Given the description of an element on the screen output the (x, y) to click on. 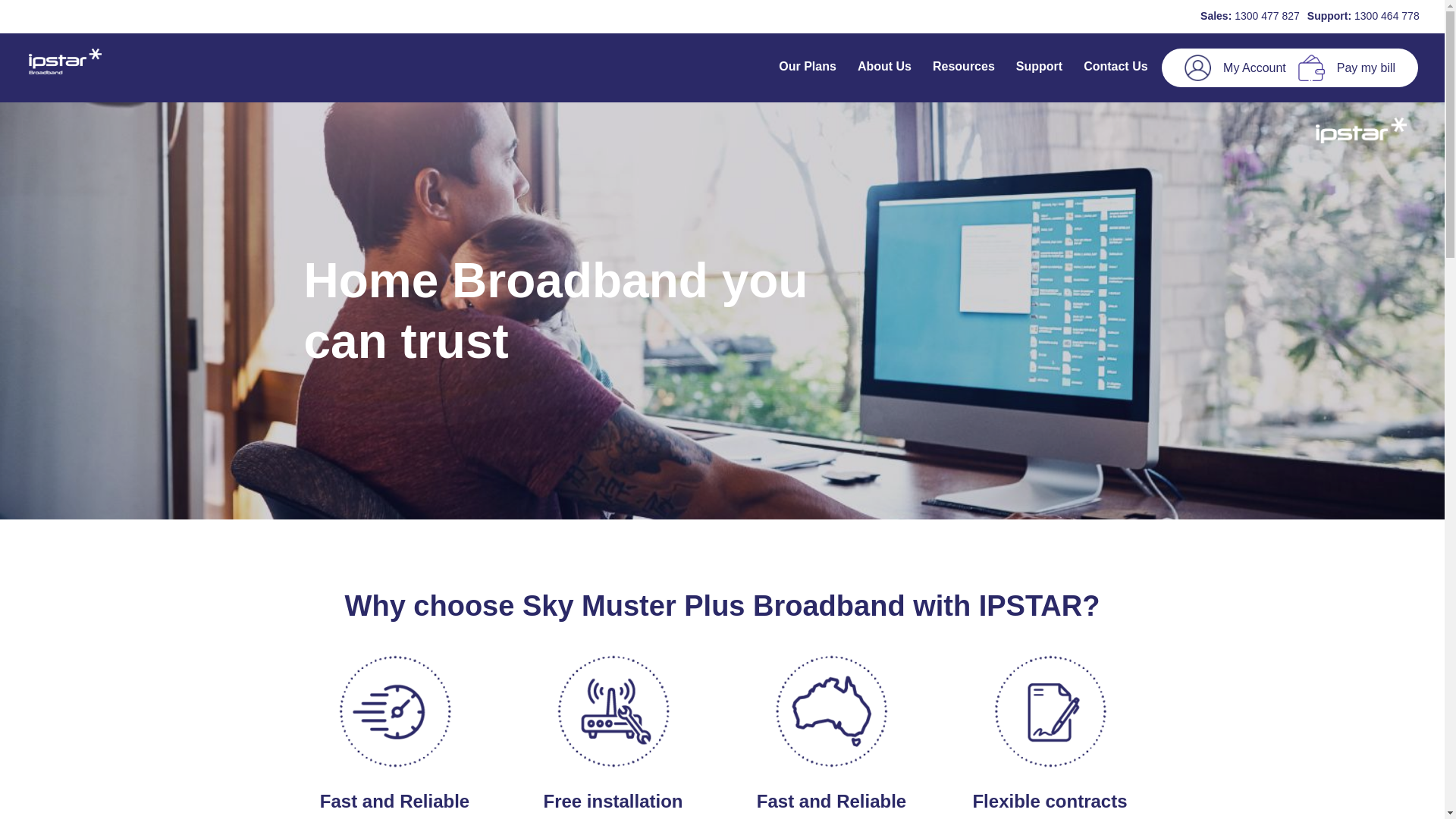
Resources Element type: text (963, 67)
Our Plans Element type: text (807, 67)
My Account Element type: text (1254, 67)
About Us Element type: text (884, 67)
1300 464 778 Element type: text (1386, 15)
1300 477 827 Element type: text (1266, 15)
Pay my bill Element type: text (1365, 67)
Contact Us Element type: text (1115, 67)
Support Element type: text (1039, 67)
